Given the description of an element on the screen output the (x, y) to click on. 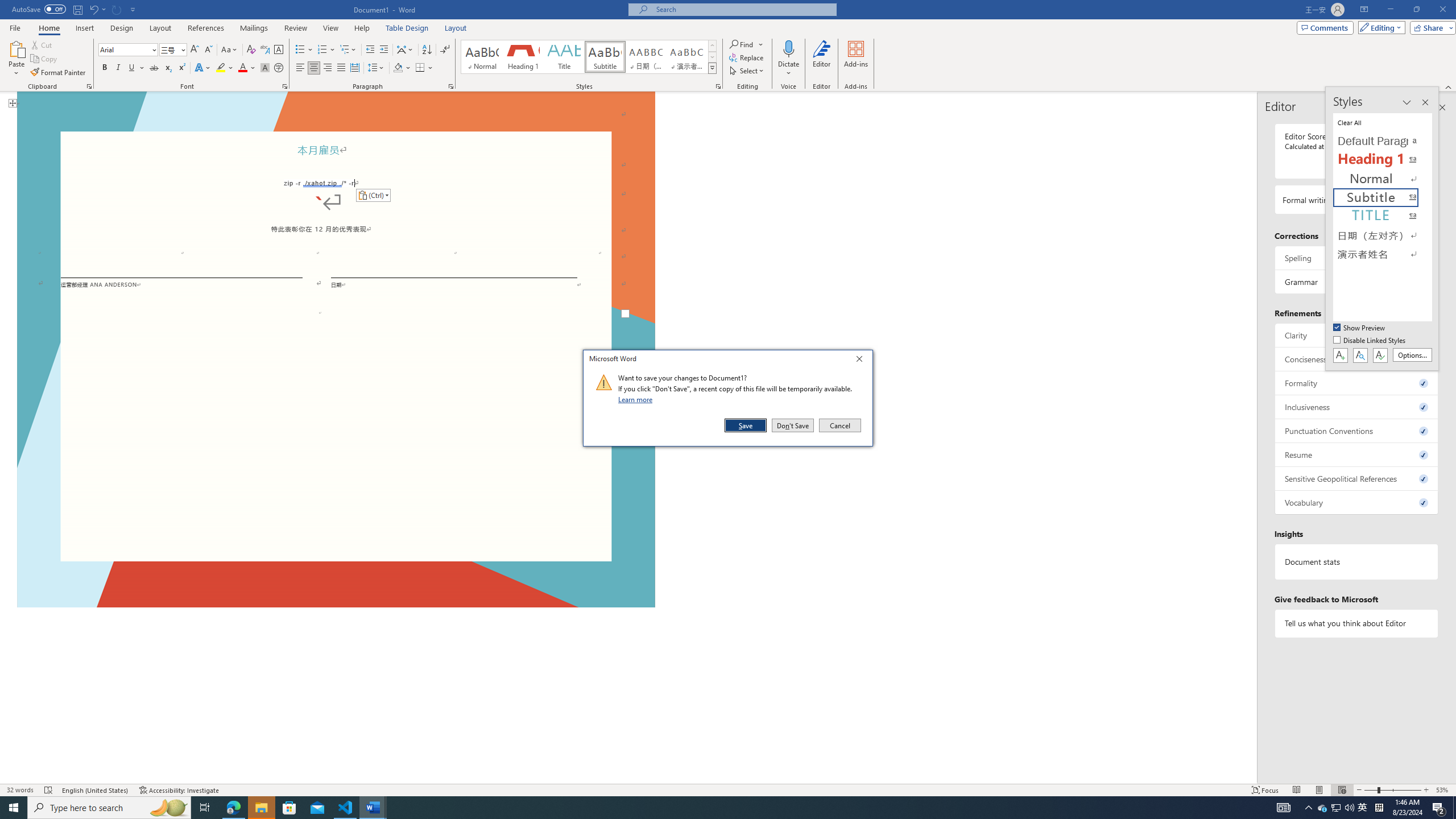
Tray Input Indicator - Chinese (Simplified, China) (1362, 807)
Title (1378, 807)
